Given the description of an element on the screen output the (x, y) to click on. 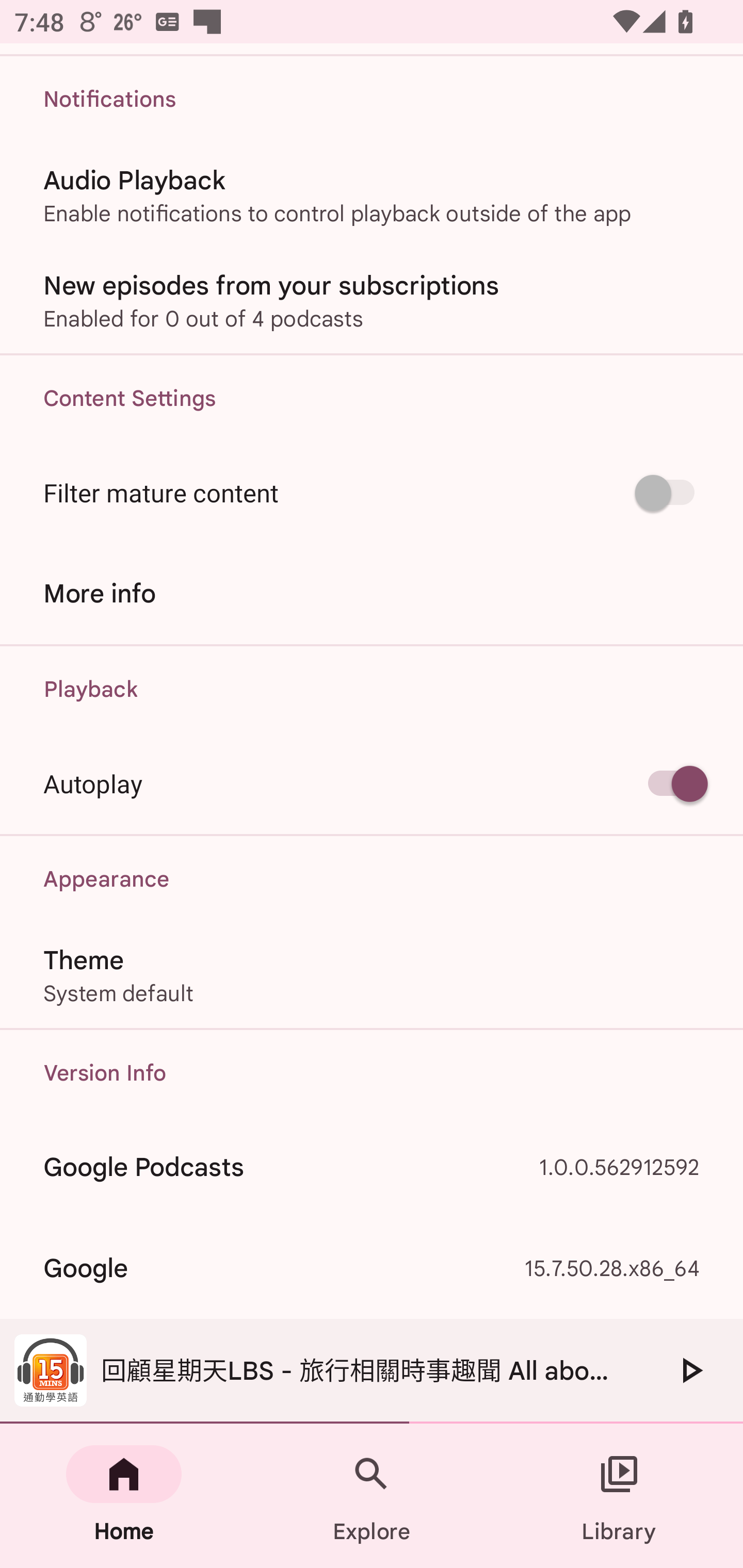
More info (371, 593)
Autoplay (371, 783)
Theme System default (371, 974)
Google Podcasts 1.0.0.562912592 (371, 1167)
Google 15.7.50.28.x86_64 (371, 1268)
Play (690, 1370)
Explore (371, 1495)
Library (619, 1495)
